Given the description of an element on the screen output the (x, y) to click on. 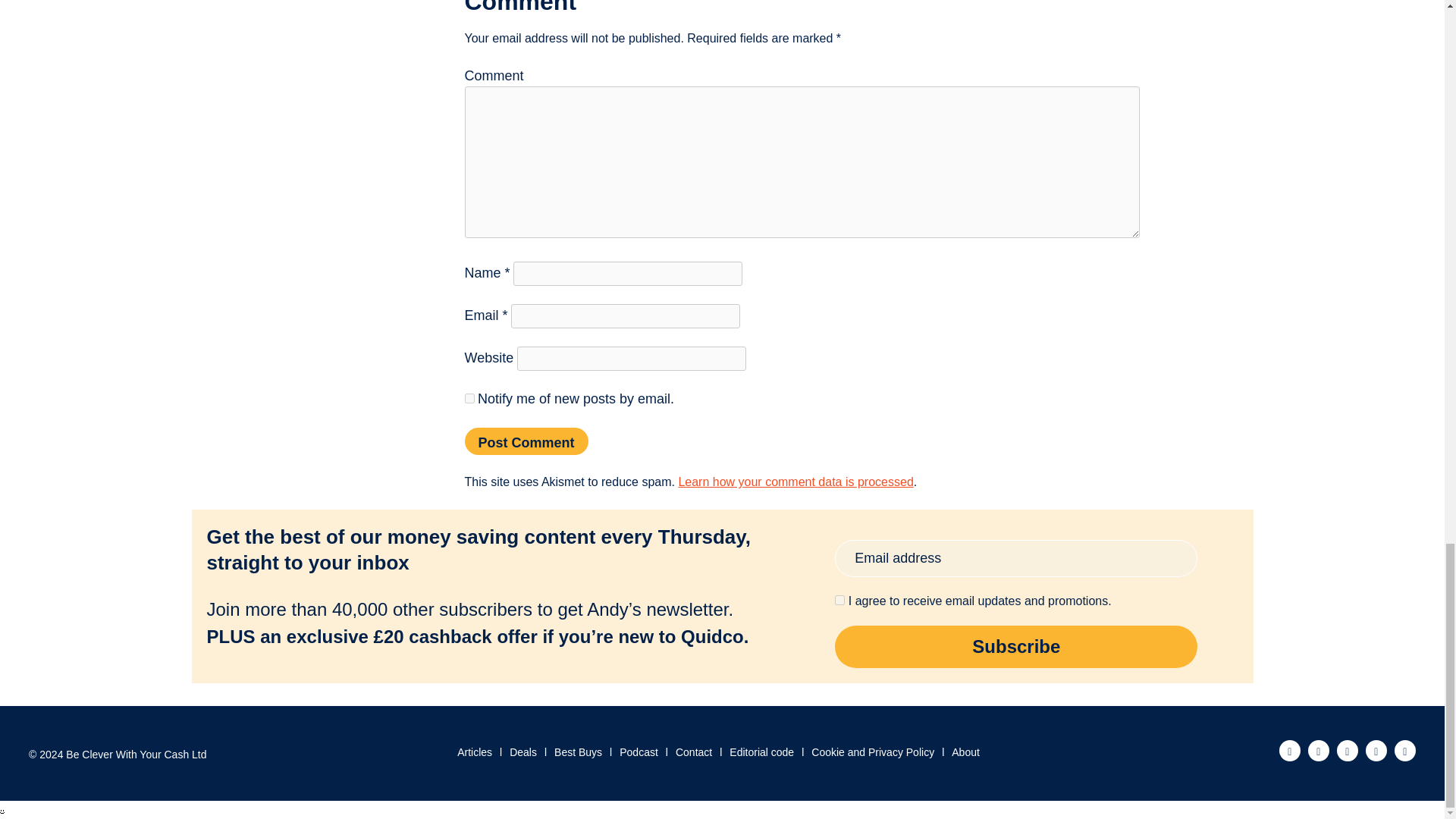
Subscribe (1015, 646)
on (839, 600)
subscribe (469, 398)
Post Comment (526, 441)
